Given the description of an element on the screen output the (x, y) to click on. 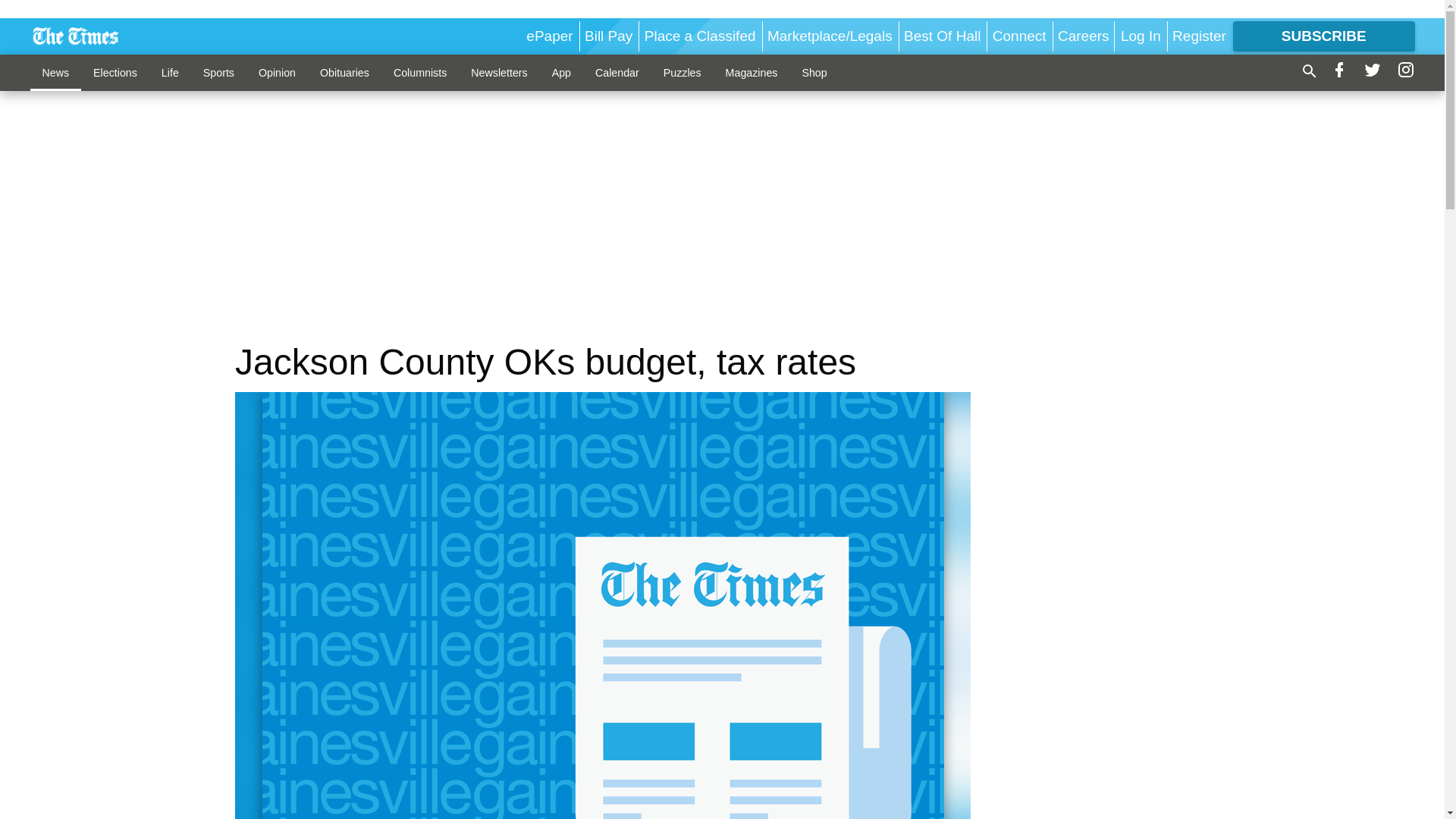
ePaper (548, 35)
Best Of Hall (941, 35)
Elections (115, 72)
App (561, 72)
Puzzles (681, 72)
Sports (218, 72)
Connect (1019, 35)
Careers (1083, 35)
Obituaries (344, 72)
Columnists (419, 72)
